Given the description of an element on the screen output the (x, y) to click on. 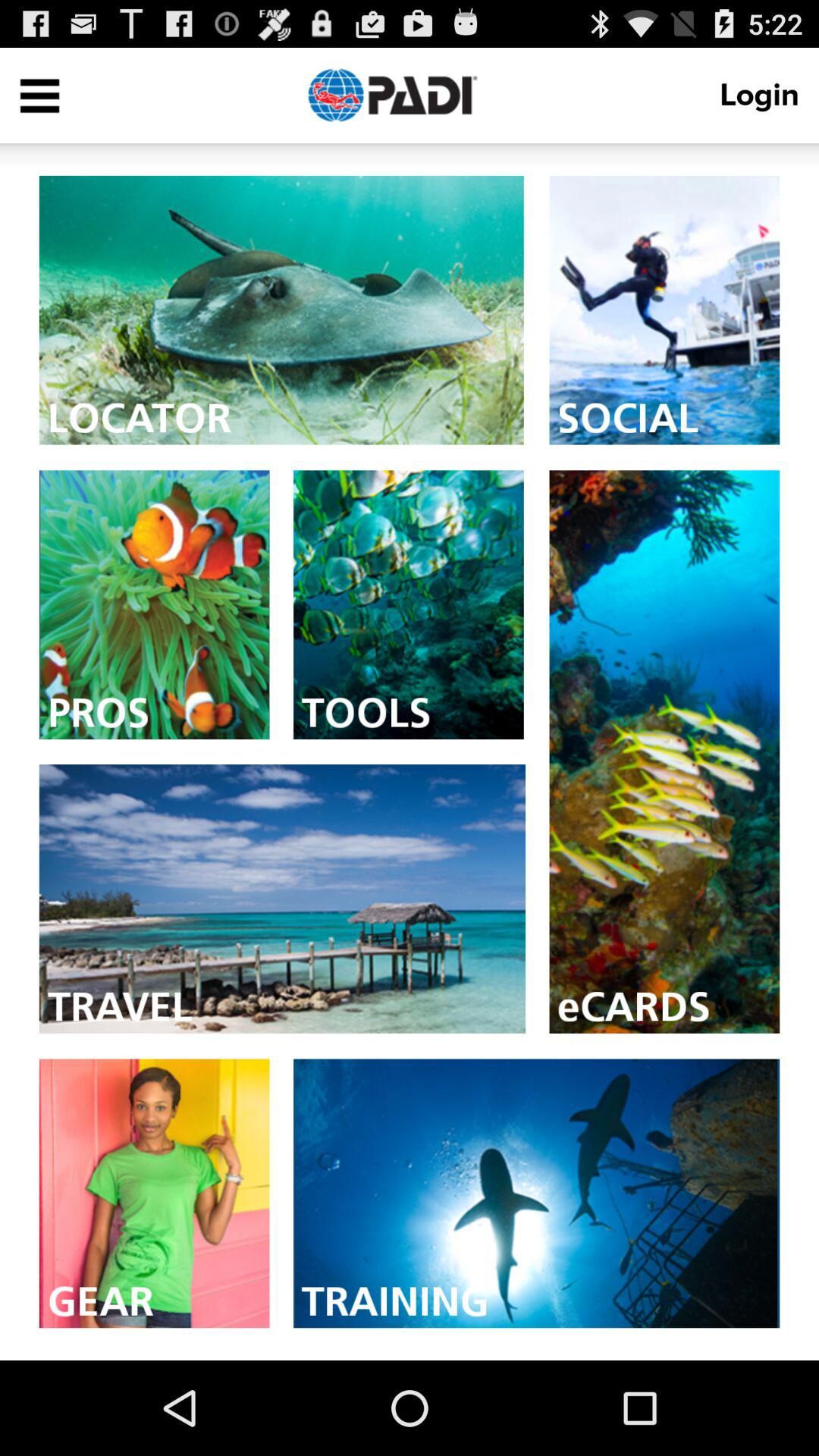
click here to see training courses that one can take (536, 1193)
